Given the description of an element on the screen output the (x, y) to click on. 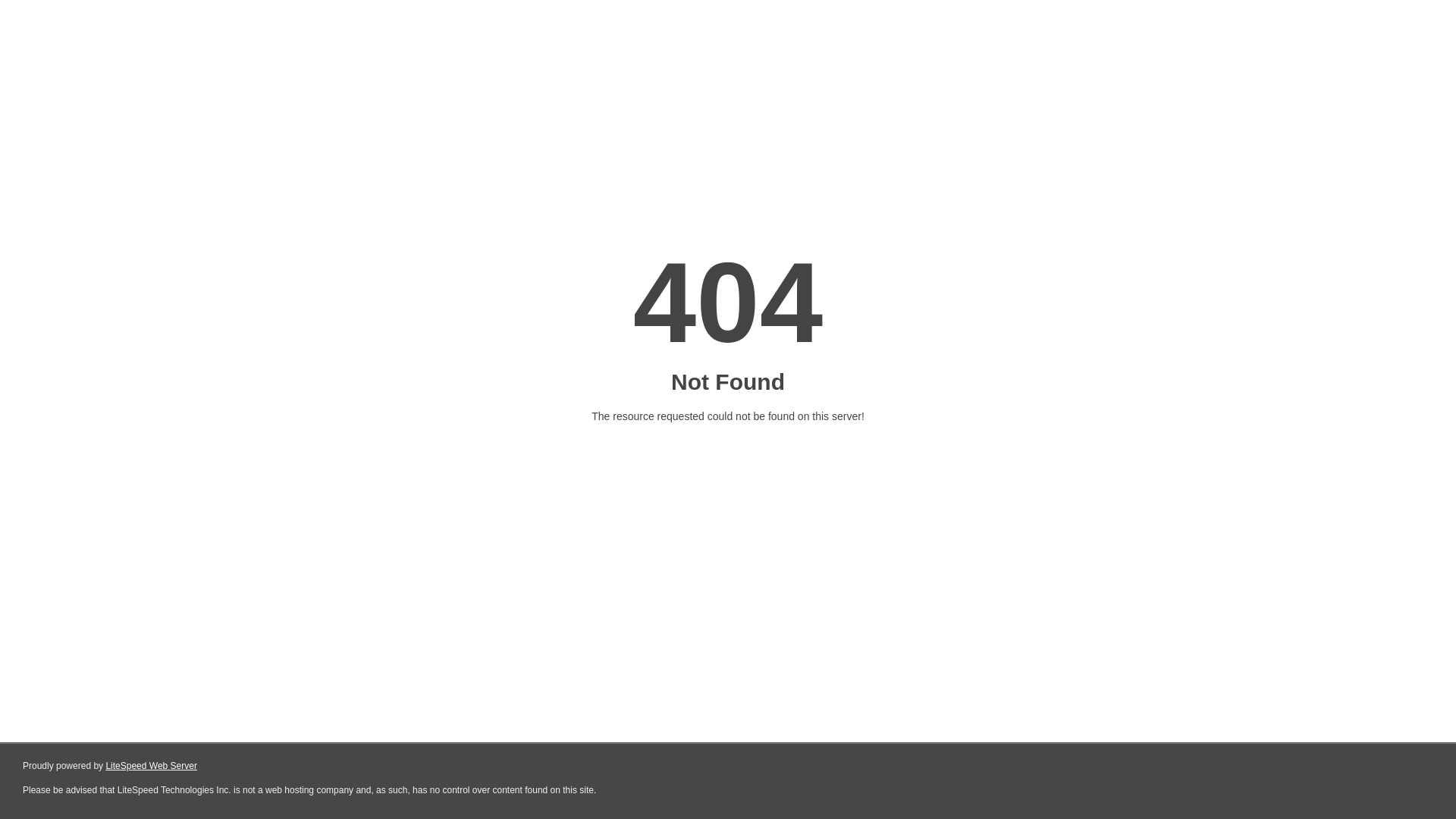
LiteSpeed Web Server Element type: text (151, 765)
